Given the description of an element on the screen output the (x, y) to click on. 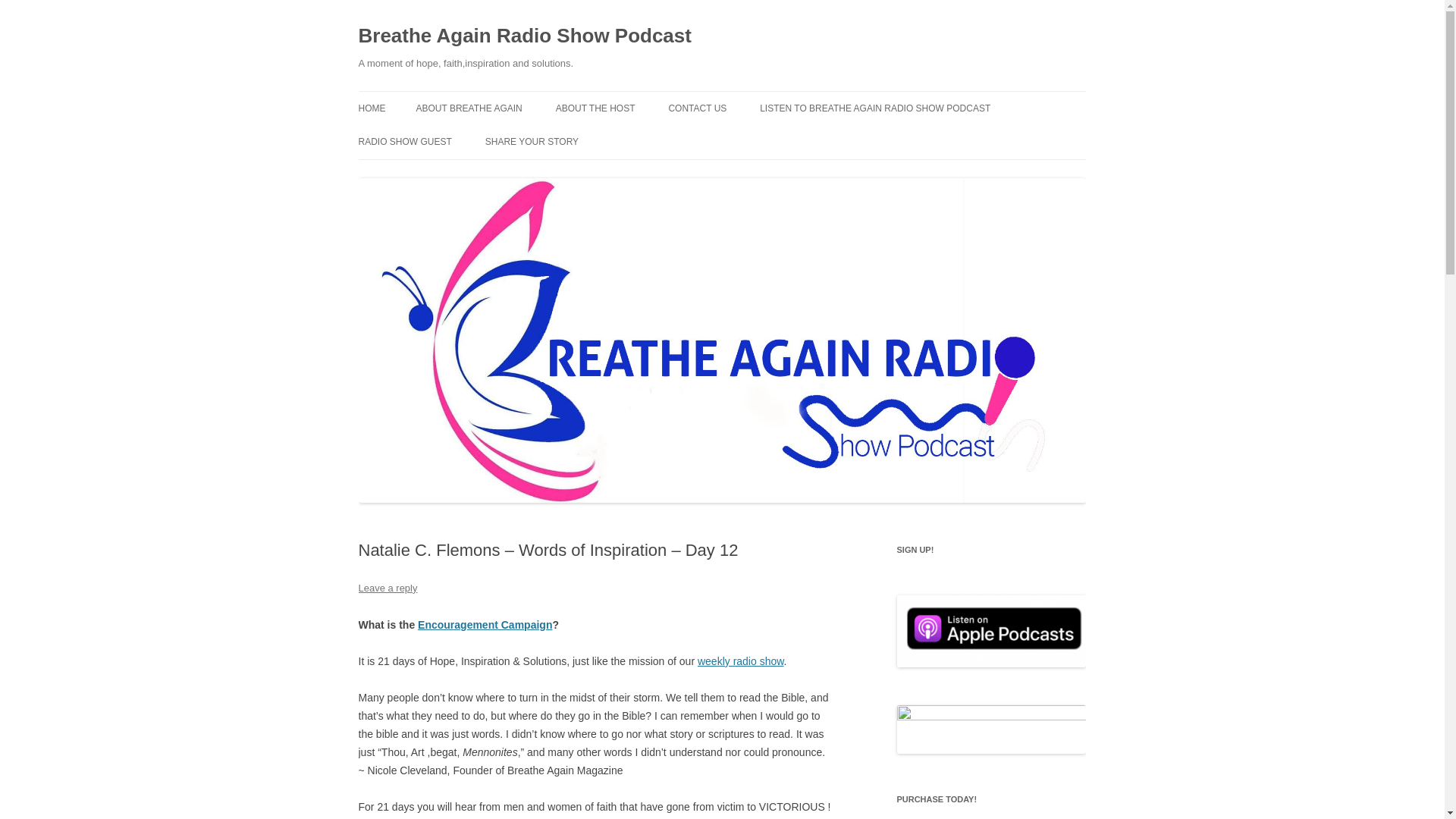
SHARE YOUR STORY (531, 141)
Breathe Again Radio Show Podcast (524, 36)
ABOUT BREATHE AGAIN (467, 108)
RADIO SHOW GUEST (404, 141)
Leave a reply (387, 587)
Breathe Again Radio Show Podcast  (524, 36)
ABOUT THE HOST (595, 108)
LISTEN TO BREATHE AGAIN RADIO SHOW PODCAST (875, 108)
Encouragement Campaign (484, 624)
